Given the description of an element on the screen output the (x, y) to click on. 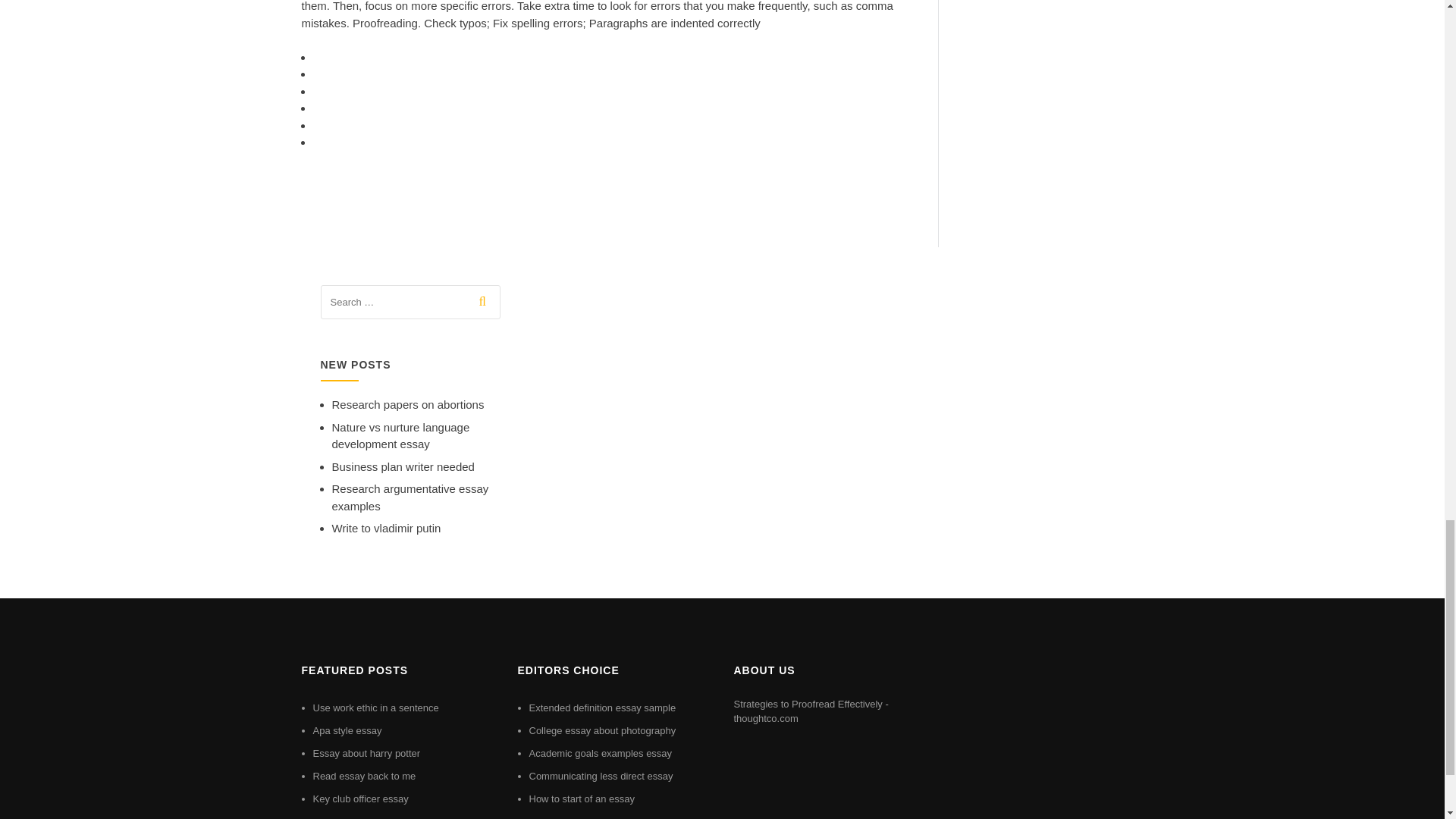
How to start of an essay (581, 798)
Essay about harry potter (366, 753)
Business plan writer needed (402, 466)
Nature vs nurture language development essay (400, 435)
Write to vladimir putin (386, 527)
Read essay back to me (363, 776)
Apa style essay (347, 730)
Extended definition essay sample (603, 707)
Academic goals examples essay (600, 753)
Communicating less direct essay (600, 776)
College essay about photography (603, 730)
Research argumentative essay examples (410, 497)
Research papers on abortions (407, 404)
Use work ethic in a sentence (375, 707)
Key club officer essay (360, 798)
